Given the description of an element on the screen output the (x, y) to click on. 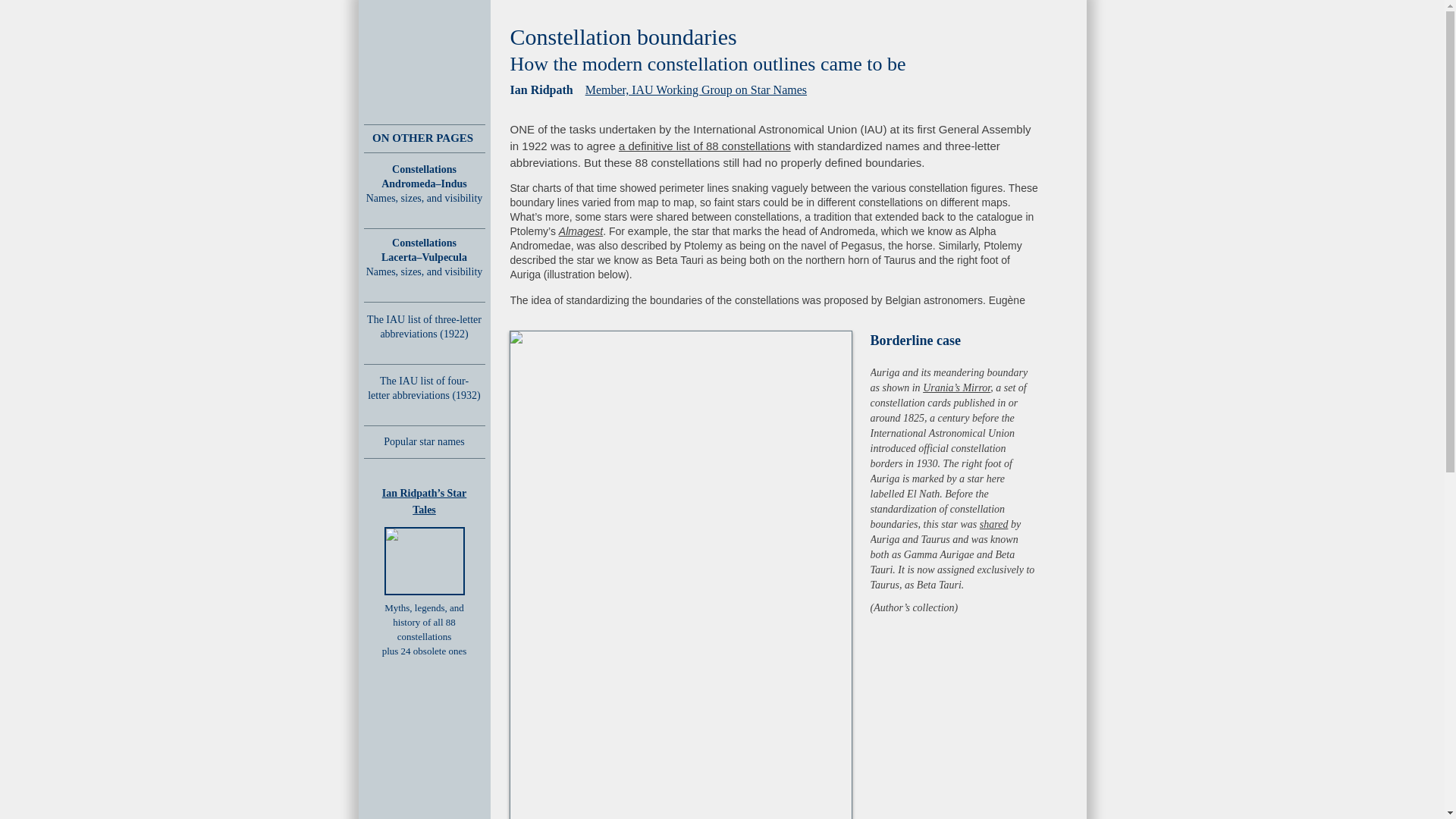
Myths, legends, and history of all 88 constellations (424, 621)
Constellations (424, 169)
Constellations (424, 242)
Names, sizes, and visibility (424, 278)
plus 24 obsolete ones (424, 650)
Member, IAU Working Group on Star Names (695, 89)
shared (994, 523)
Almagest (580, 231)
a definitive list of 88 constellations (704, 145)
Names, sizes, and visibility (424, 205)
Ian Ridpath (540, 89)
Popular star names (424, 441)
